Given the description of an element on the screen output the (x, y) to click on. 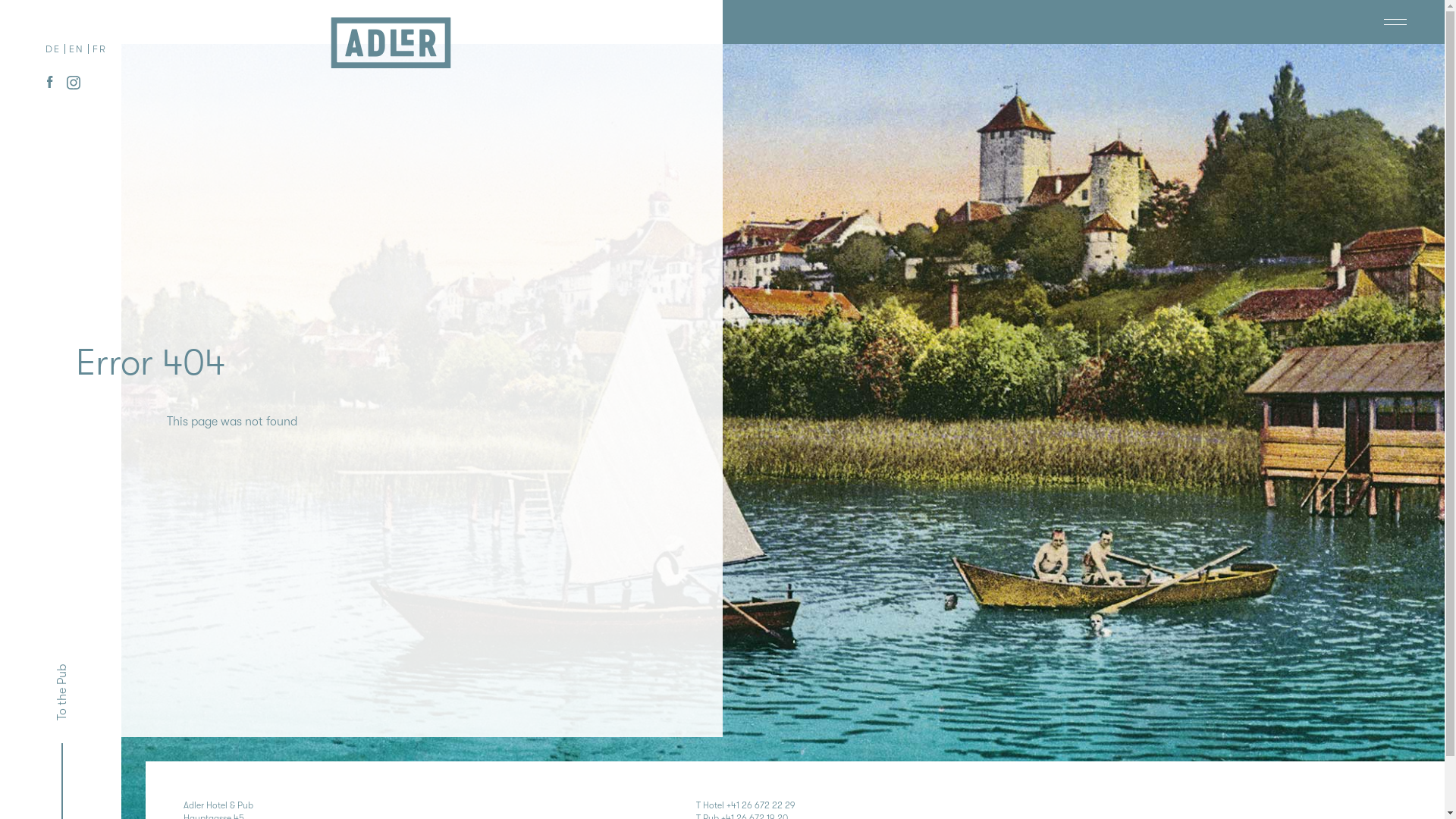
DE Element type: text (52, 48)
Freiburger Falle Element type: text (1339, 21)
Bistrottino Element type: text (1406, 21)
FR Element type: text (99, 48)
To the Pub Element type: text (80, 673)
EN Element type: text (76, 48)
